Given the description of an element on the screen output the (x, y) to click on. 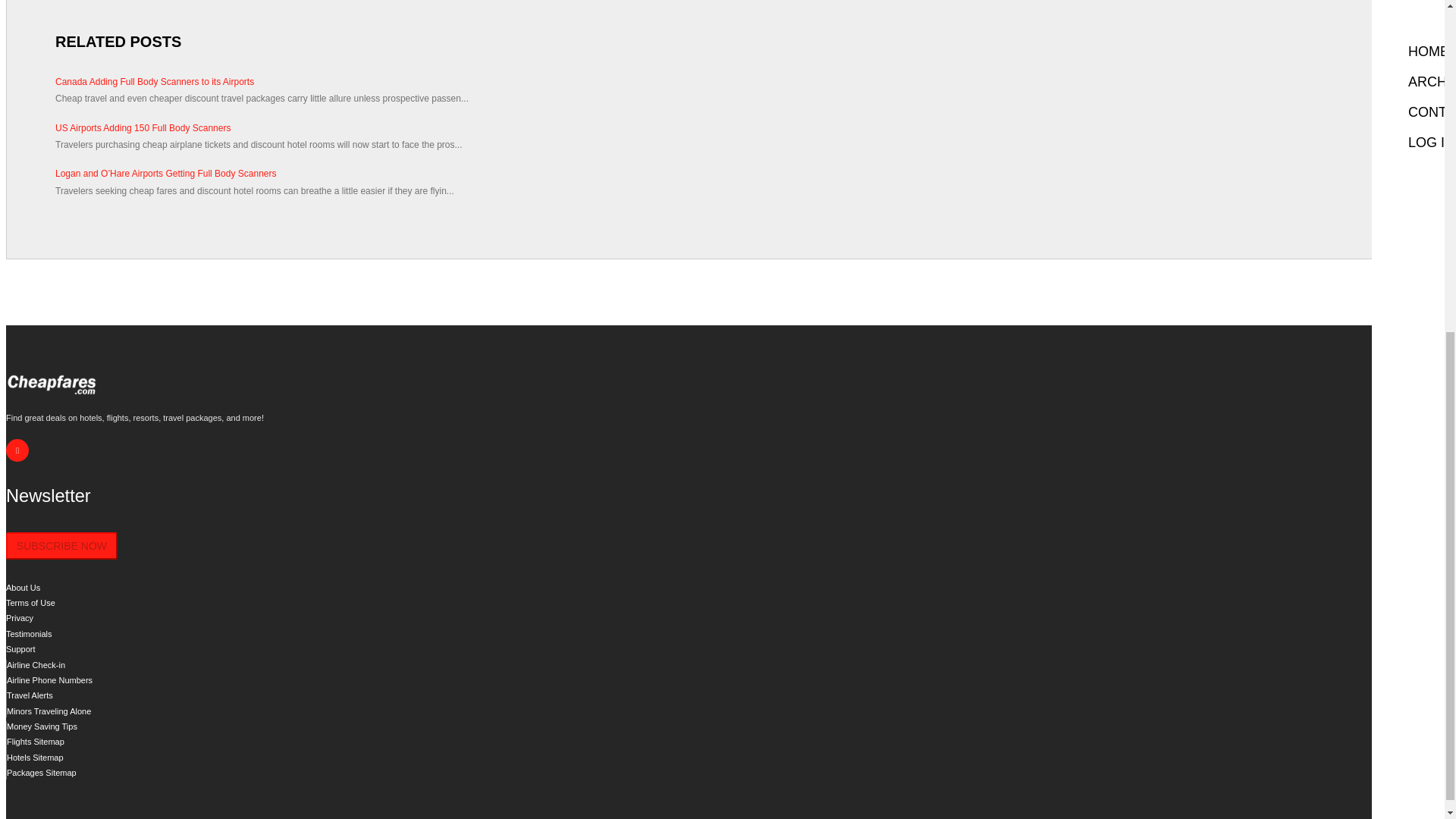
SUBSCRIBE NOW (61, 545)
Airline Phone Numbers (50, 679)
Canada Adding Full Body Scanners to its Airports (722, 81)
Terms of Use (30, 602)
Testimonials (28, 633)
Travel Alerts (29, 695)
Privacy (19, 617)
US Airports Adding 150 Full Body Scanners (722, 127)
Support (19, 648)
Cheapfares travel logo (51, 386)
About Us (22, 587)
Airline Check-in (36, 664)
